Given the description of an element on the screen output the (x, y) to click on. 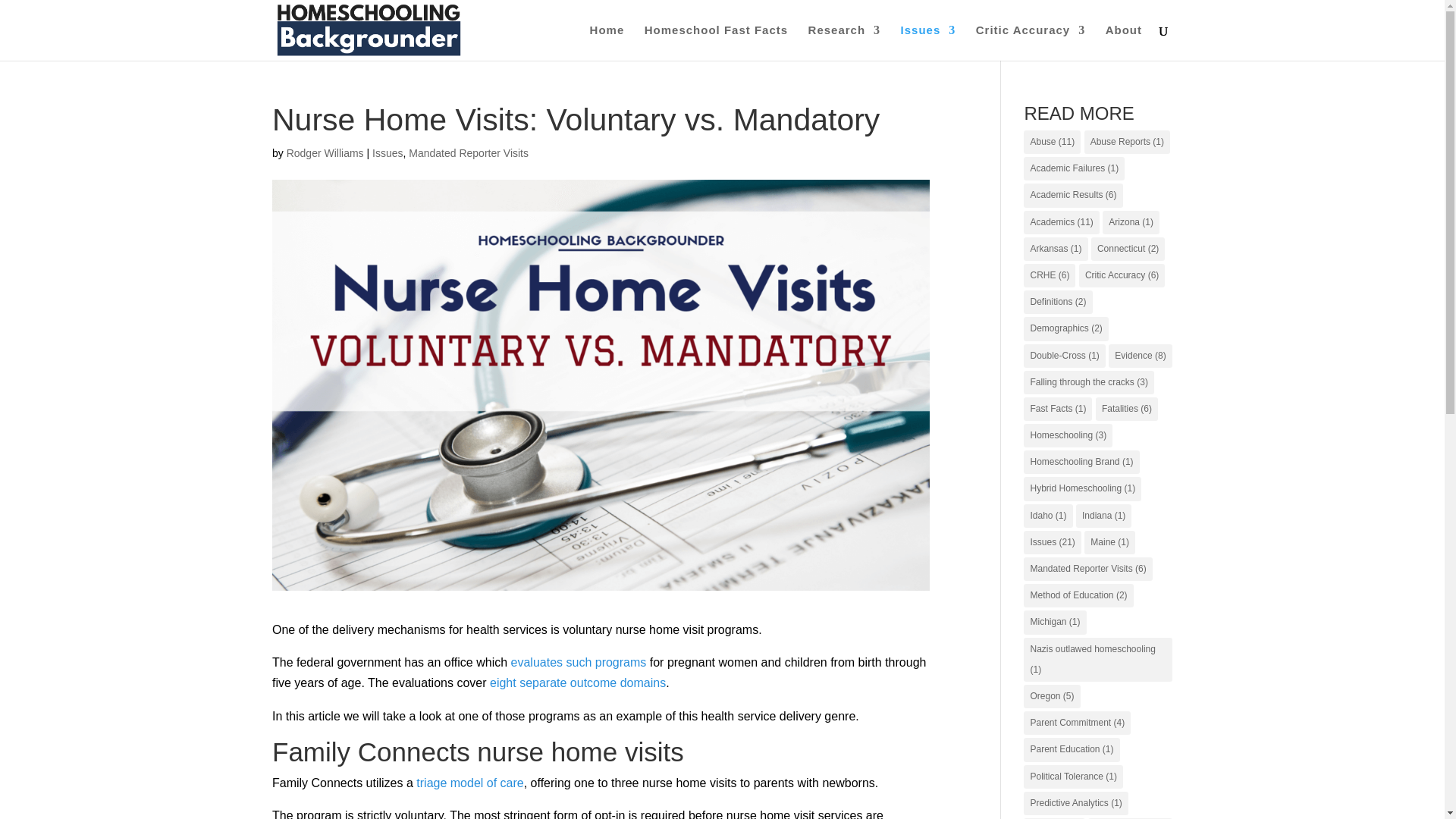
Home (606, 42)
Research (844, 42)
Issues (928, 42)
Homeschool Fast Facts (716, 42)
Posts by Rodger Williams (325, 152)
